Given the description of an element on the screen output the (x, y) to click on. 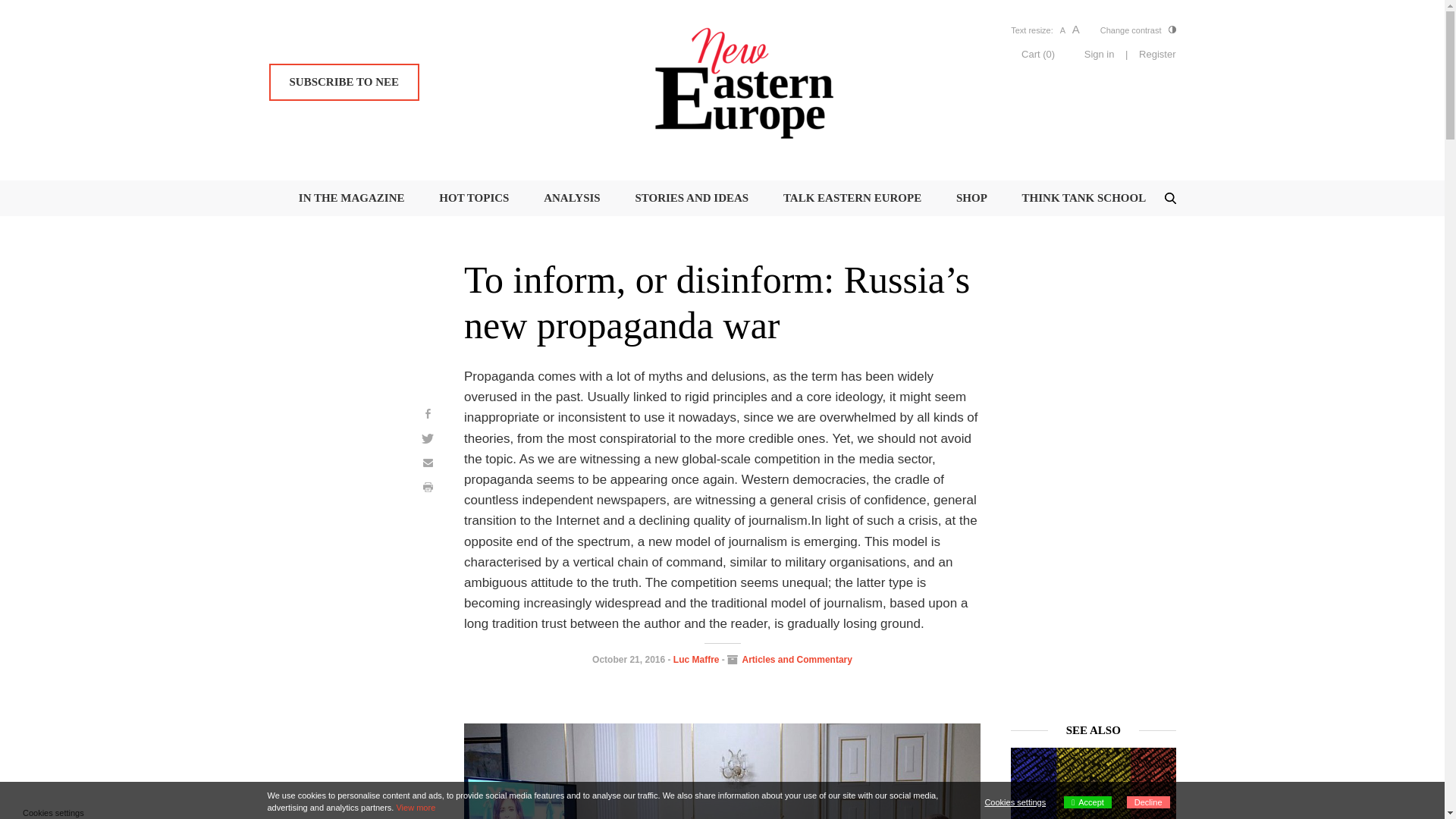
ANALYSIS (571, 197)
Share on Twitter (427, 438)
TALK EASTERN EUROPE (852, 197)
Cart (1038, 53)
Luc Maffre (695, 659)
Share on Facebook (427, 413)
SHOP (971, 197)
HOT TOPICS (473, 197)
SUBSCRIBE TO NEE (343, 81)
Send Email (427, 462)
Sign in (1099, 54)
Register (1156, 54)
THINK TANK SCHOOL (1084, 197)
Articles and Commentary (796, 659)
Moldova is being forced to adapt to hybrid warfare (1093, 801)
